Given the description of an element on the screen output the (x, y) to click on. 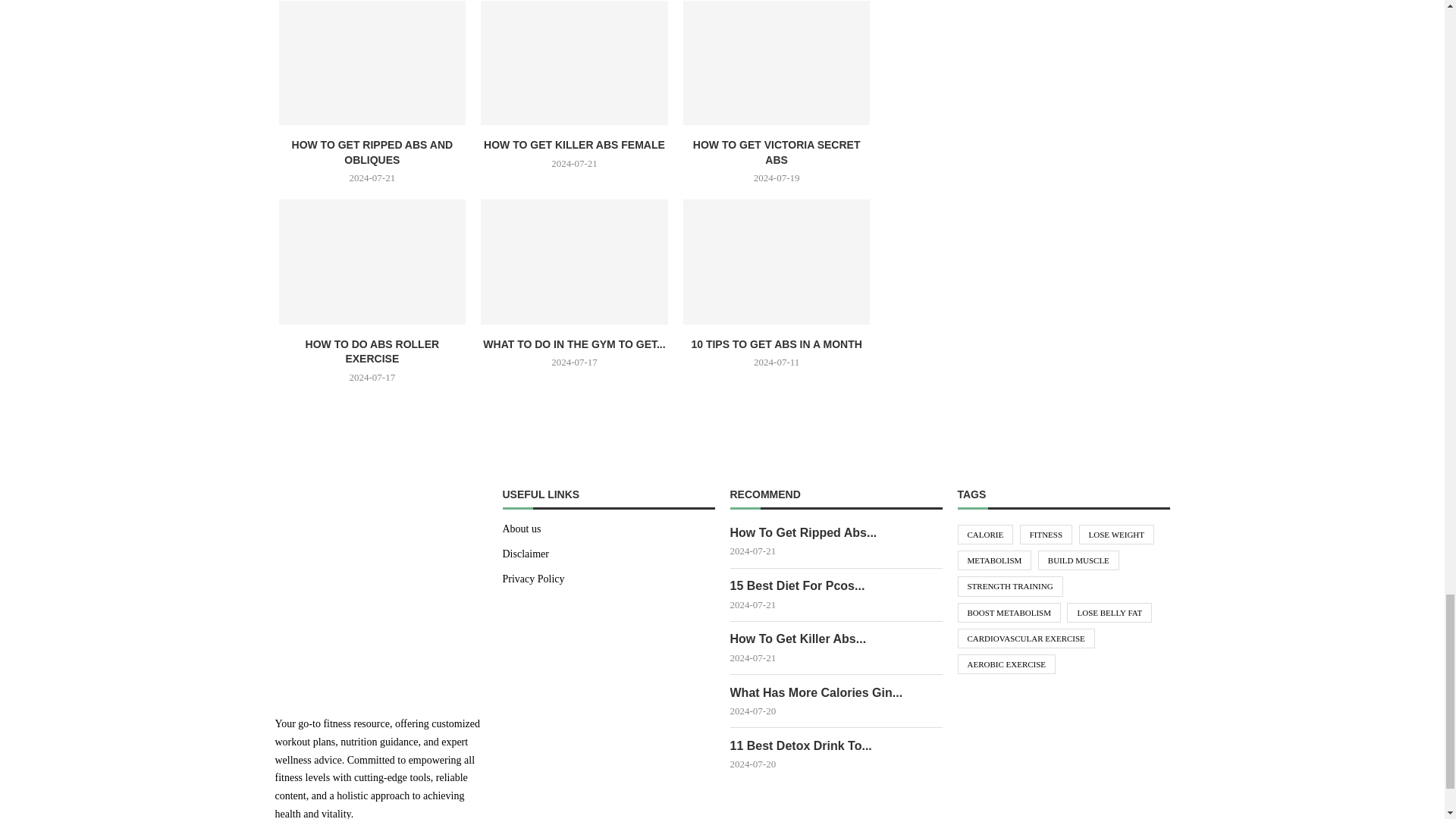
What To Do In The Gym To Get Abs (574, 261)
How To Get Ripped Abs And Obliques (372, 62)
How To Do Abs Roller Exercise (372, 261)
How To Get Victoria Secret Abs (776, 62)
10 Tips To Get Abs In A Month (776, 261)
How To Get Killer Abs Female (574, 62)
